Given the description of an element on the screen output the (x, y) to click on. 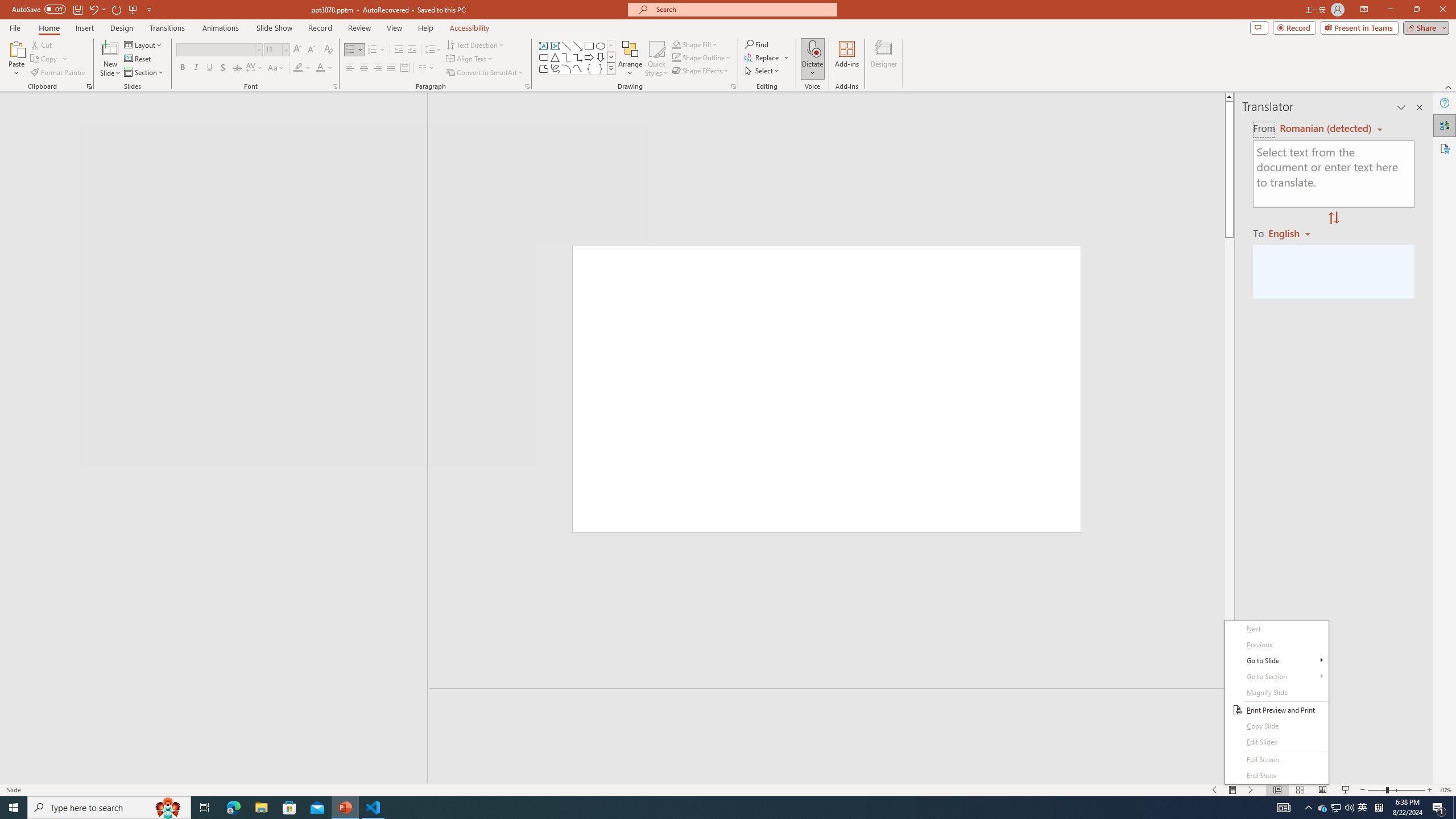
Rectangle: Rounded Corners (543, 57)
Distributed (404, 67)
Romanian (detected) (1323, 128)
Outline (218, 122)
Section (144, 72)
Convert to SmartArt (485, 72)
Increase Font Size (297, 49)
